Given the description of an element on the screen output the (x, y) to click on. 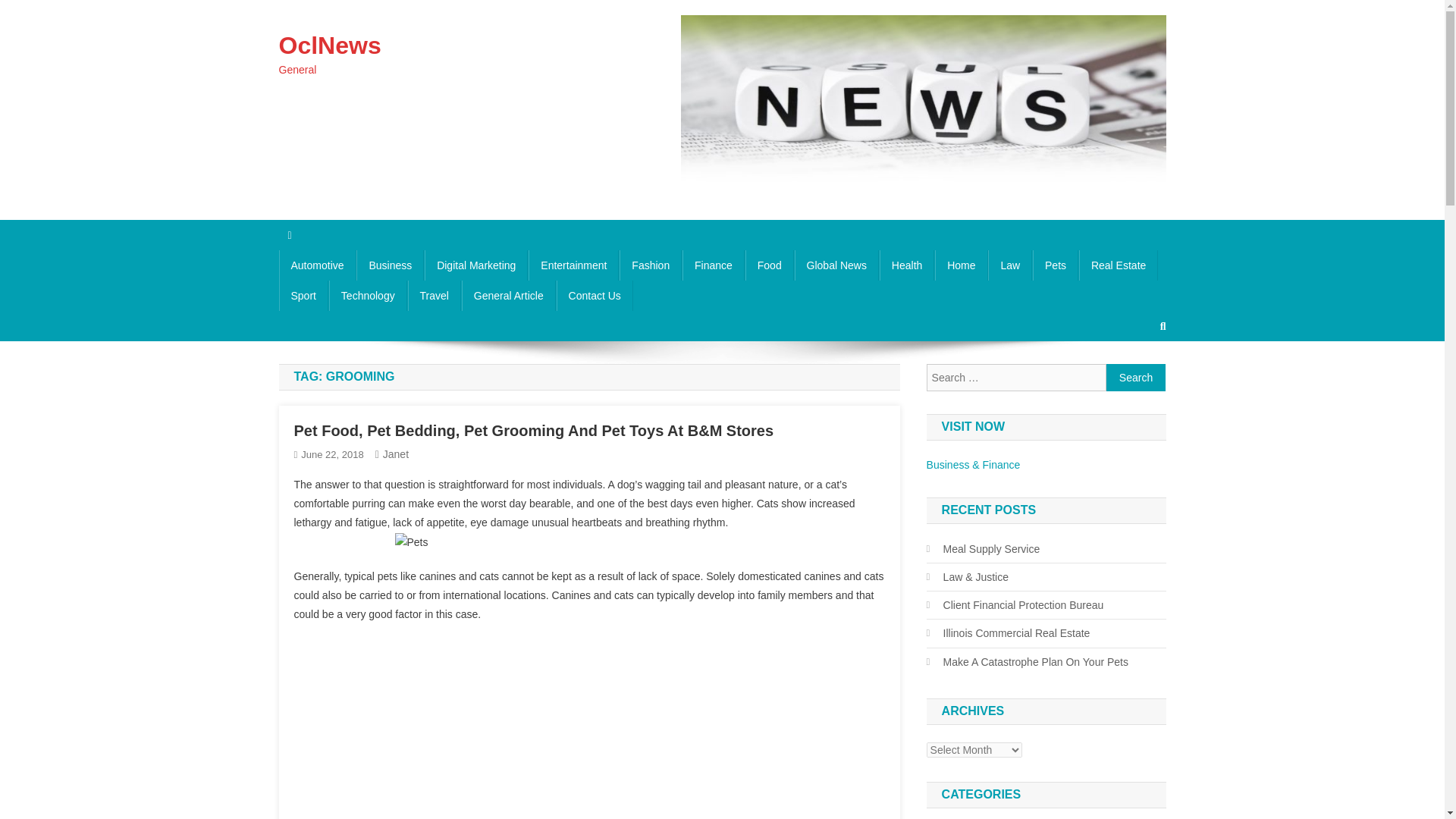
Food (769, 265)
Real Estate (1117, 265)
Travel (434, 295)
Fashion (650, 265)
Contact Us (594, 295)
Home (960, 265)
General Article (508, 295)
Global News (836, 265)
Technology (368, 295)
Pets (1055, 265)
Business (389, 265)
Digital Marketing (476, 265)
Search (1136, 377)
Health (906, 265)
Skip to content (34, 9)
